Given the description of an element on the screen output the (x, y) to click on. 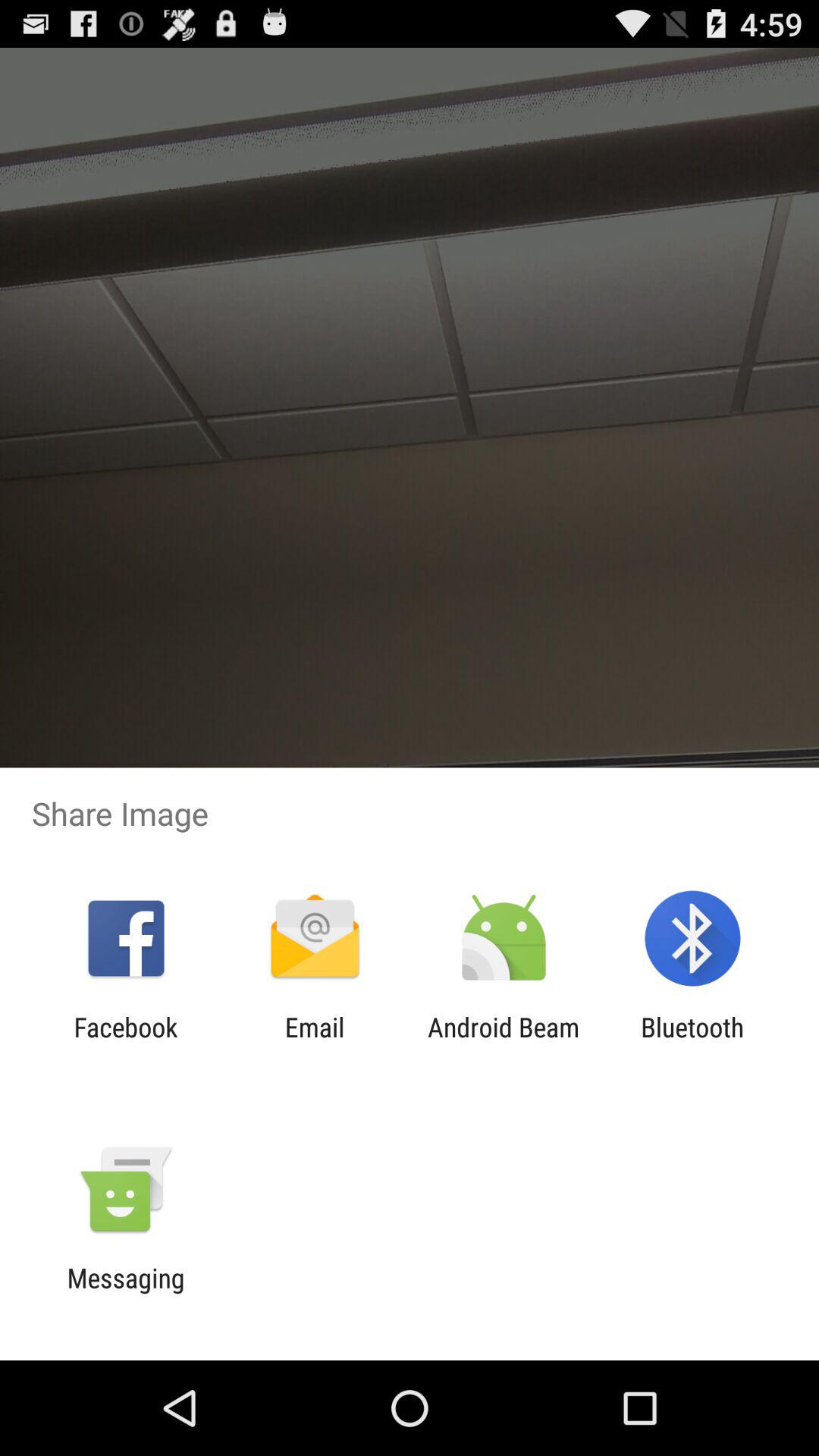
open the android beam icon (503, 1042)
